Given the description of an element on the screen output the (x, y) to click on. 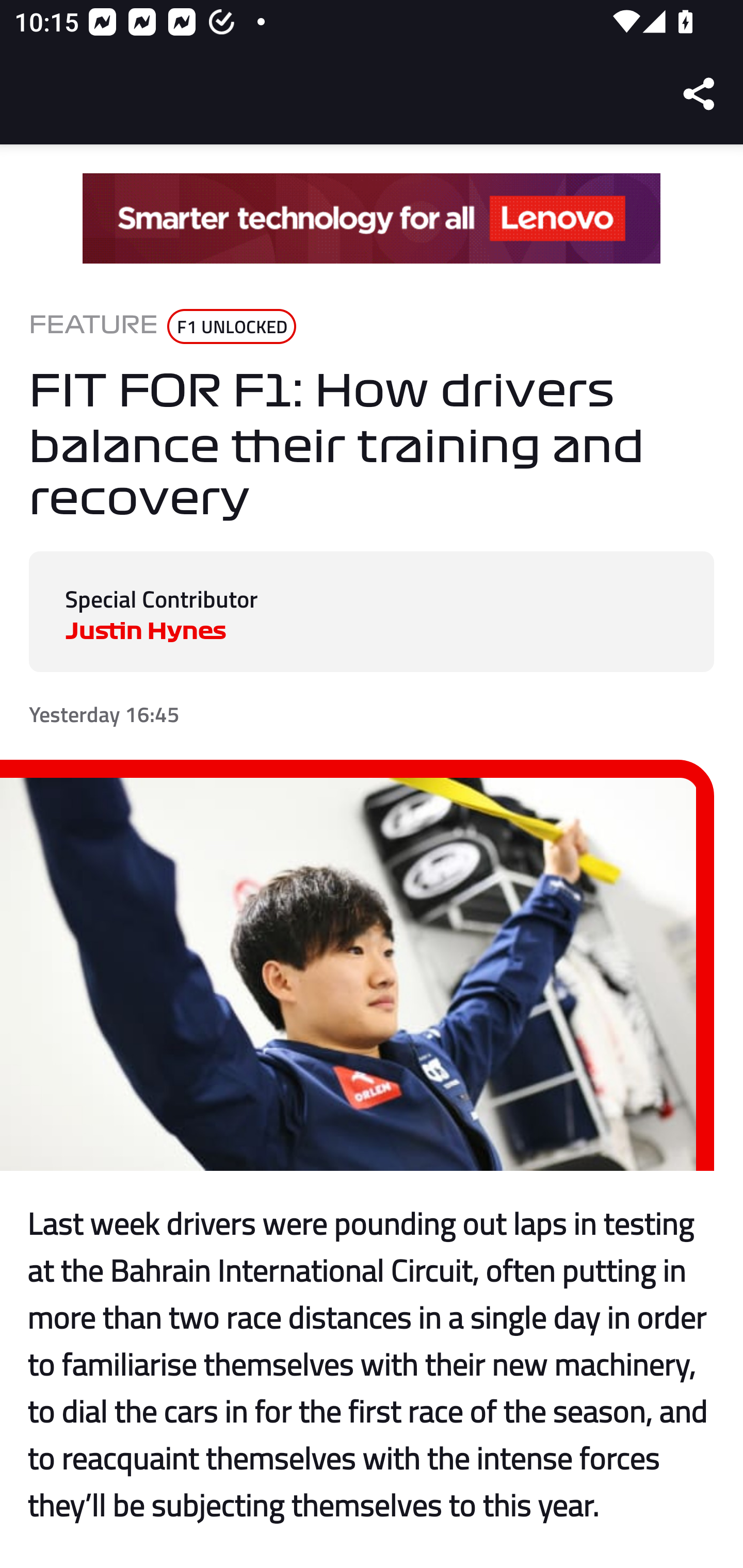
Share (699, 93)
it (371, 218)
